Given the description of an element on the screen output the (x, y) to click on. 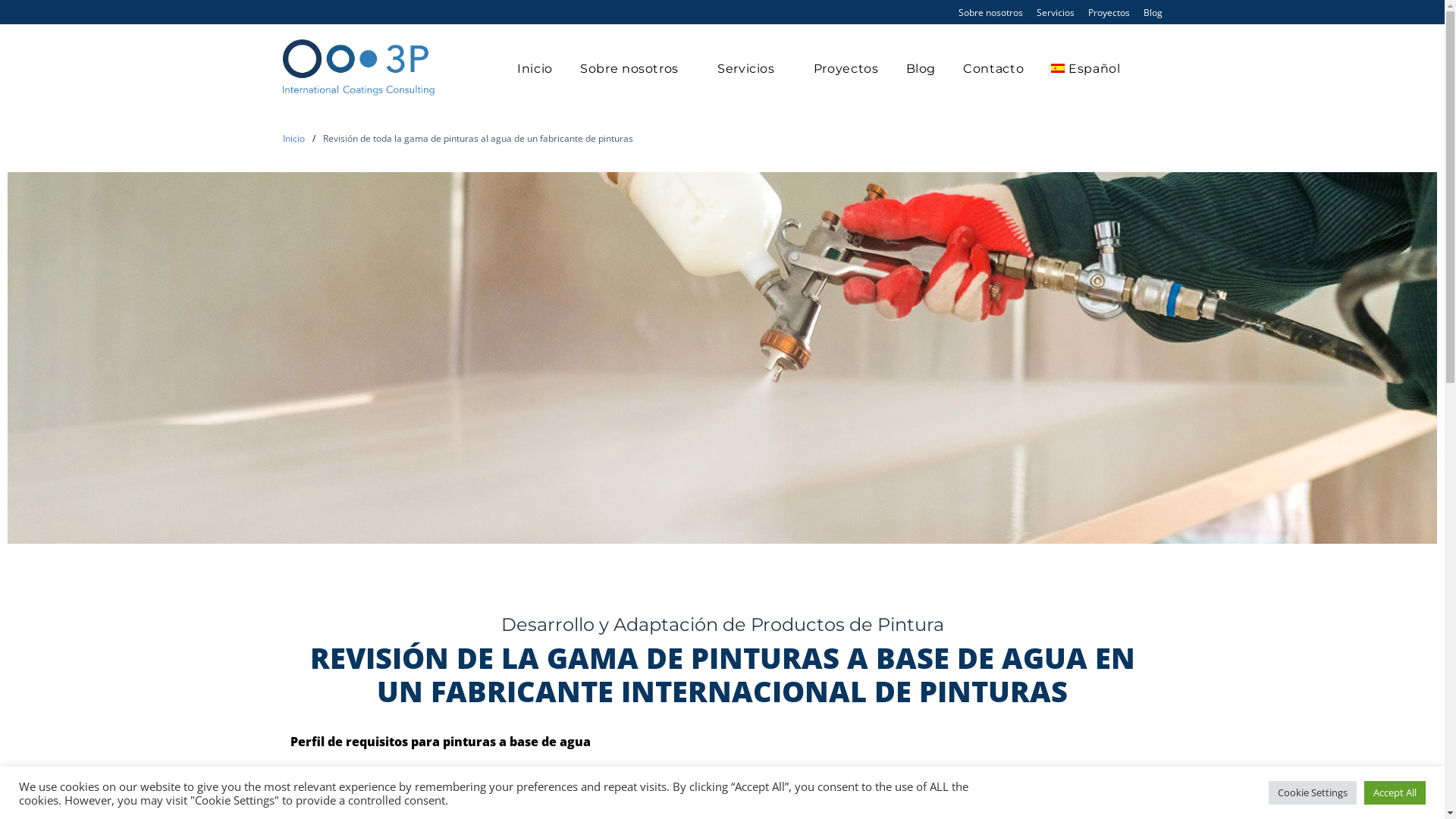
Sobre nosotros Element type: text (635, 68)
Accept All Element type: text (1394, 792)
Contacto Element type: text (993, 68)
Proyectos Element type: text (845, 68)
Proyectos Element type: text (1108, 12)
Servicios Element type: text (1054, 12)
Sobre nosotros Element type: text (990, 12)
Servicios Element type: text (751, 68)
Blog Element type: text (1152, 12)
Blog Element type: text (921, 68)
Inicio Element type: text (534, 68)
Inicio Element type: text (293, 137)
Cookie Settings Element type: text (1312, 792)
